Given the description of an element on the screen output the (x, y) to click on. 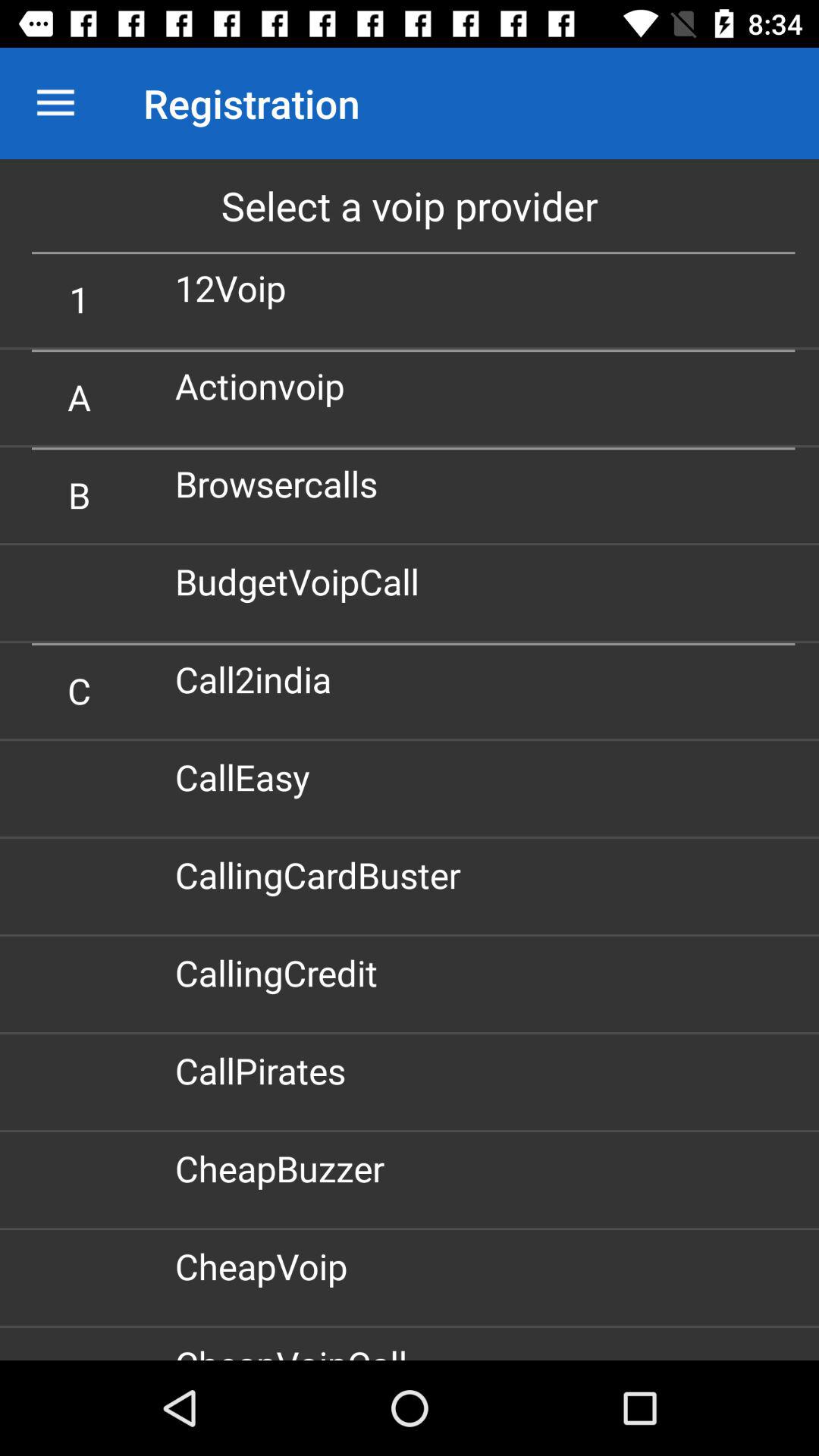
turn on the icon above the select a voip (55, 103)
